Given the description of an element on the screen output the (x, y) to click on. 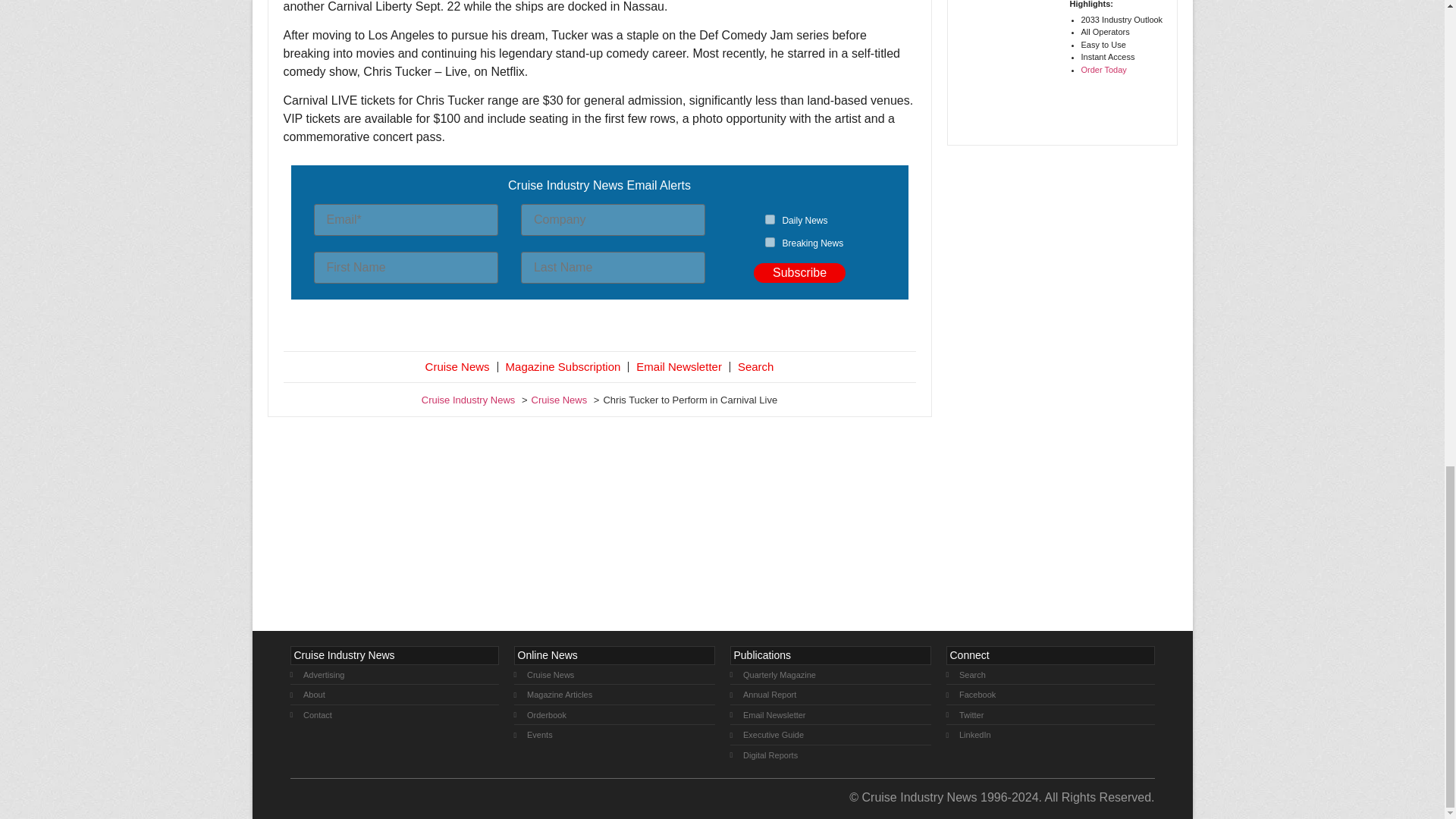
1 (769, 219)
2 (769, 242)
Subscribe (799, 272)
